Given the description of an element on the screen output the (x, y) to click on. 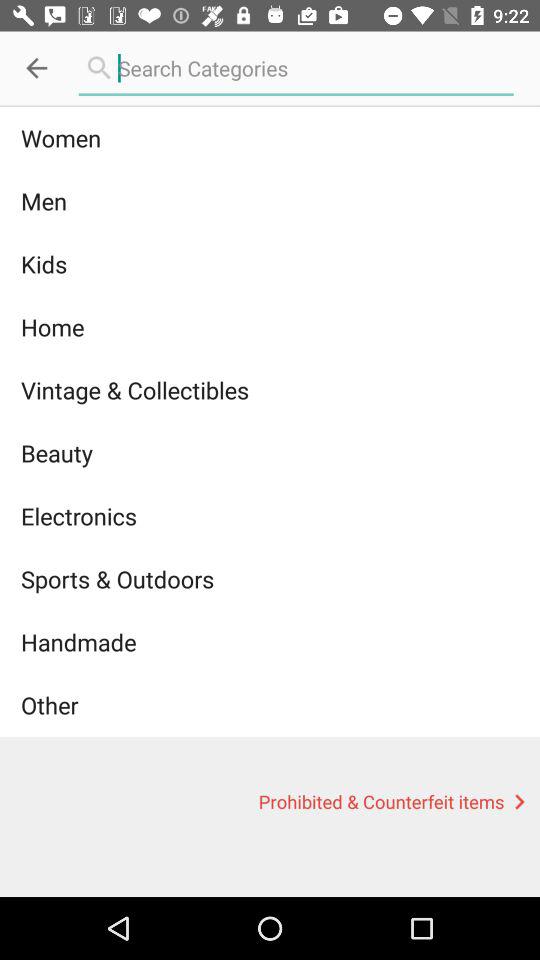
click to search option (296, 68)
